Given the description of an element on the screen output the (x, y) to click on. 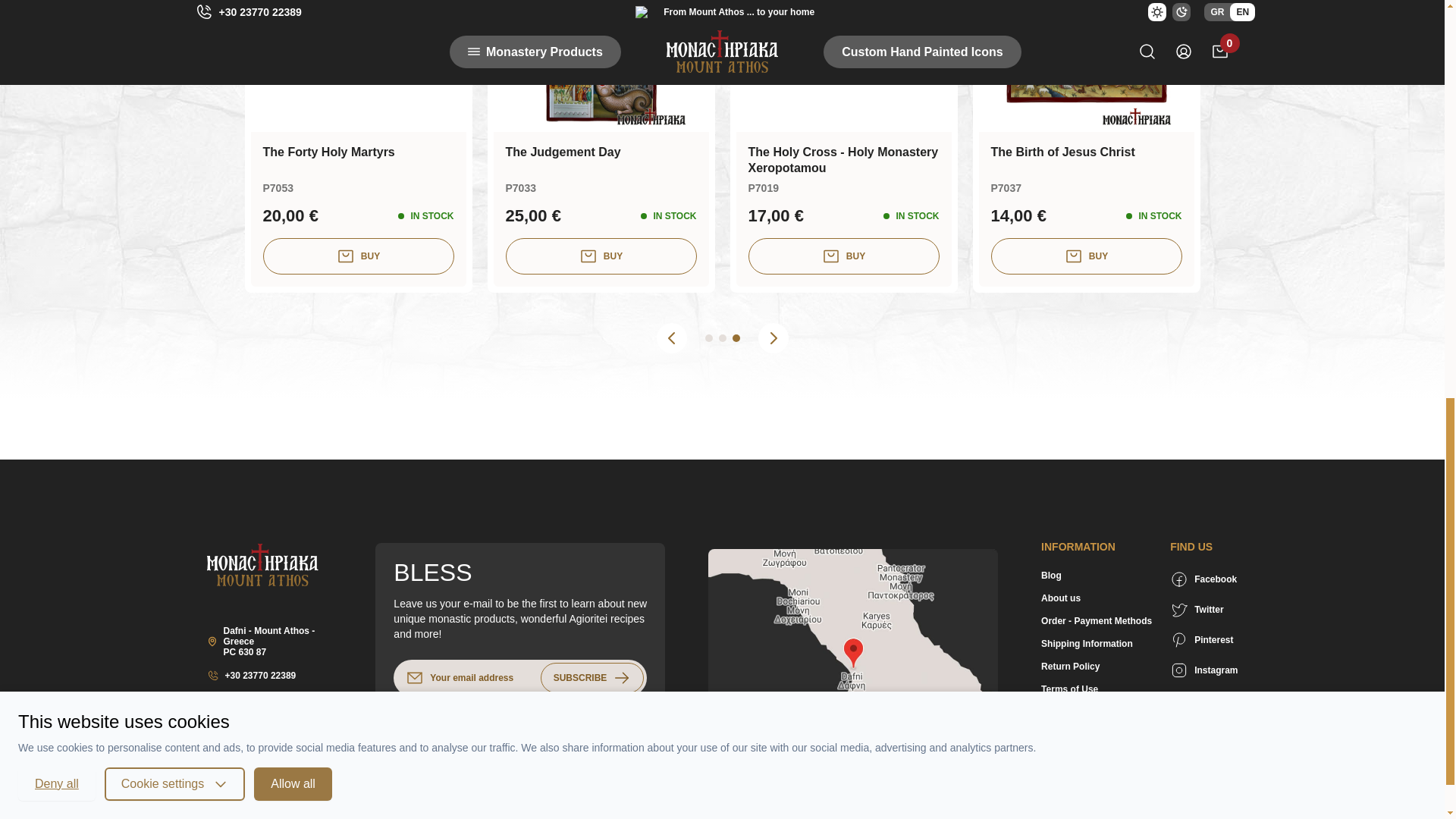
on (402, 729)
